Given the description of an element on the screen output the (x, y) to click on. 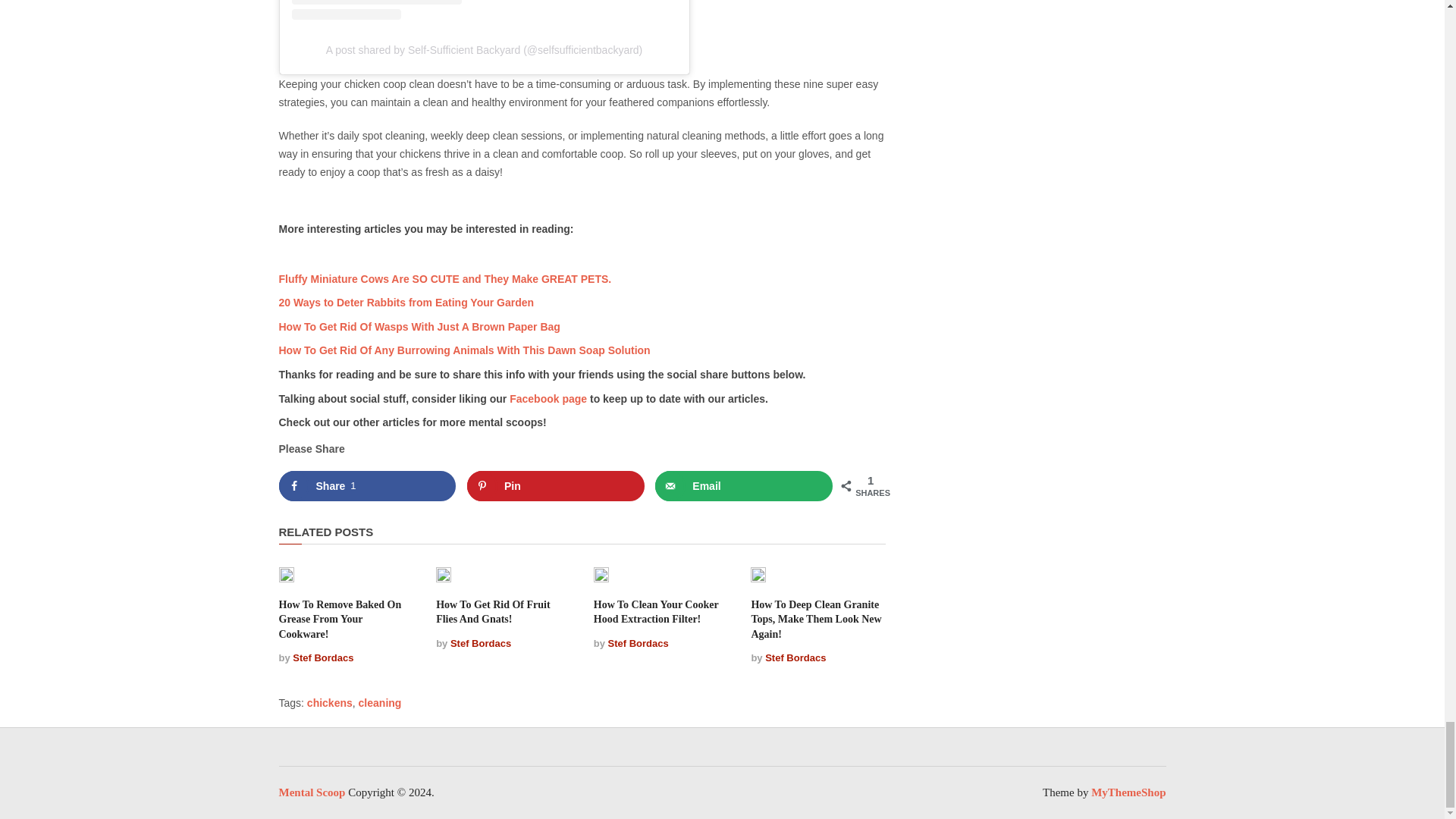
How To Remove Baked On Grease From Your Cookware! (340, 618)
Posts by Stef Bordacs (322, 657)
Share on Facebook (368, 485)
Save to Pinterest (556, 485)
20 Ways to Deter Rabbits from Eating Your Garden (406, 302)
Fluffy Miniature Cows Are SO CUTE and They Make GREAT PETS. (445, 278)
Send over email (743, 485)
View this post on Instagram (484, 10)
